Given the description of an element on the screen output the (x, y) to click on. 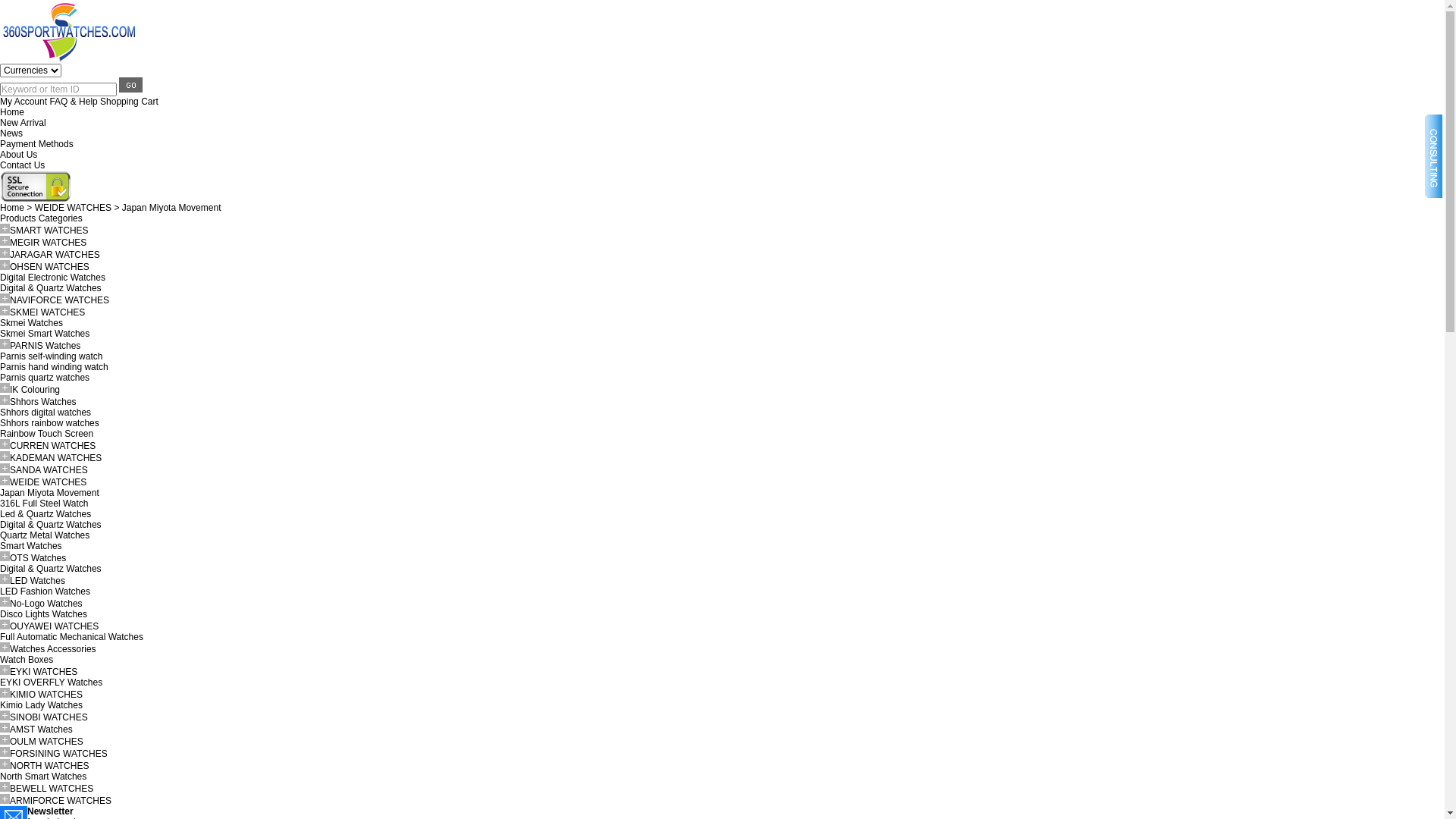
AMST Watches Element type: text (40, 729)
SANDA WATCHES Element type: text (48, 469)
OTS Watches Element type: text (37, 557)
Disco Lights Watches Element type: text (43, 613)
Home Element type: text (12, 111)
IK Colouring Element type: text (34, 389)
No-Logo Watches Element type: text (45, 603)
WEIDE WATCHES Element type: text (72, 207)
OHSEN WATCHES Element type: text (49, 266)
NORTH WATCHES Element type: text (48, 765)
NAVIFORCE WATCHES Element type: text (59, 299)
My Account Element type: text (23, 101)
CURREN WATCHES Element type: text (52, 445)
EYKI OVERFLY Watches Element type: text (51, 682)
Parnis hand winding watch Element type: text (54, 366)
About Us Element type: text (18, 154)
BEWELL WATCHES Element type: text (51, 788)
KADEMAN WATCHES Element type: text (55, 457)
Quartz Metal Watches Element type: text (44, 535)
Digital & Quartz Watches Element type: text (50, 568)
Digital & Quartz Watches Element type: text (50, 287)
Watch Boxes Element type: text (26, 659)
Shopping Cart Element type: text (129, 101)
WEIDE WATCHES Element type: text (47, 481)
Shhors Watches Element type: text (42, 401)
PARNIS Watches Element type: text (44, 345)
KIMIO WATCHES Element type: text (45, 694)
Digital & Quartz Watches Element type: text (50, 524)
Skmei Smart Watches Element type: text (44, 333)
Digital Electronic Watches Element type: text (52, 277)
News Element type: text (11, 133)
Rainbow Touch Screen Element type: text (46, 433)
Parnis self-winding watch Element type: text (51, 356)
OUYAWEI WATCHES Element type: text (53, 626)
Home Element type: text (12, 207)
Shhors digital watches Element type: text (45, 412)
Shhors rainbow watches Element type: text (49, 422)
Smart Watches Element type: text (31, 545)
SMART WATCHES Element type: text (48, 230)
SKMEI WATCHES Element type: text (46, 312)
EYKI WATCHES Element type: text (43, 671)
Watches Accessories Element type: text (52, 648)
316L Full Steel Watch Element type: text (44, 503)
Contact Us Element type: text (22, 165)
Parnis quartz watches Element type: text (44, 377)
Japan Miyota Movement Element type: text (49, 492)
ARMIFORCE WATCHES Element type: text (60, 800)
LED Fashion Watches Element type: text (45, 591)
OULM WATCHES Element type: text (46, 741)
LED Watches Element type: text (37, 580)
Full Automatic Mechanical Watches Element type: text (71, 636)
SINOBI WATCHES Element type: text (48, 717)
MEGIR WATCHES Element type: text (47, 242)
New Arrival Element type: text (23, 122)
North Smart Watches Element type: text (43, 776)
JARAGAR WATCHES Element type: text (54, 254)
Skmei Watches Element type: text (31, 322)
FAQ & Help Element type: text (73, 101)
Payment Methods Element type: text (36, 143)
Kimio Lady Watches Element type: text (41, 704)
Led & Quartz Watches Element type: text (45, 513)
FORSINING WATCHES Element type: text (58, 753)
Japan Miyota Movement Element type: text (171, 207)
